Given the description of an element on the screen output the (x, y) to click on. 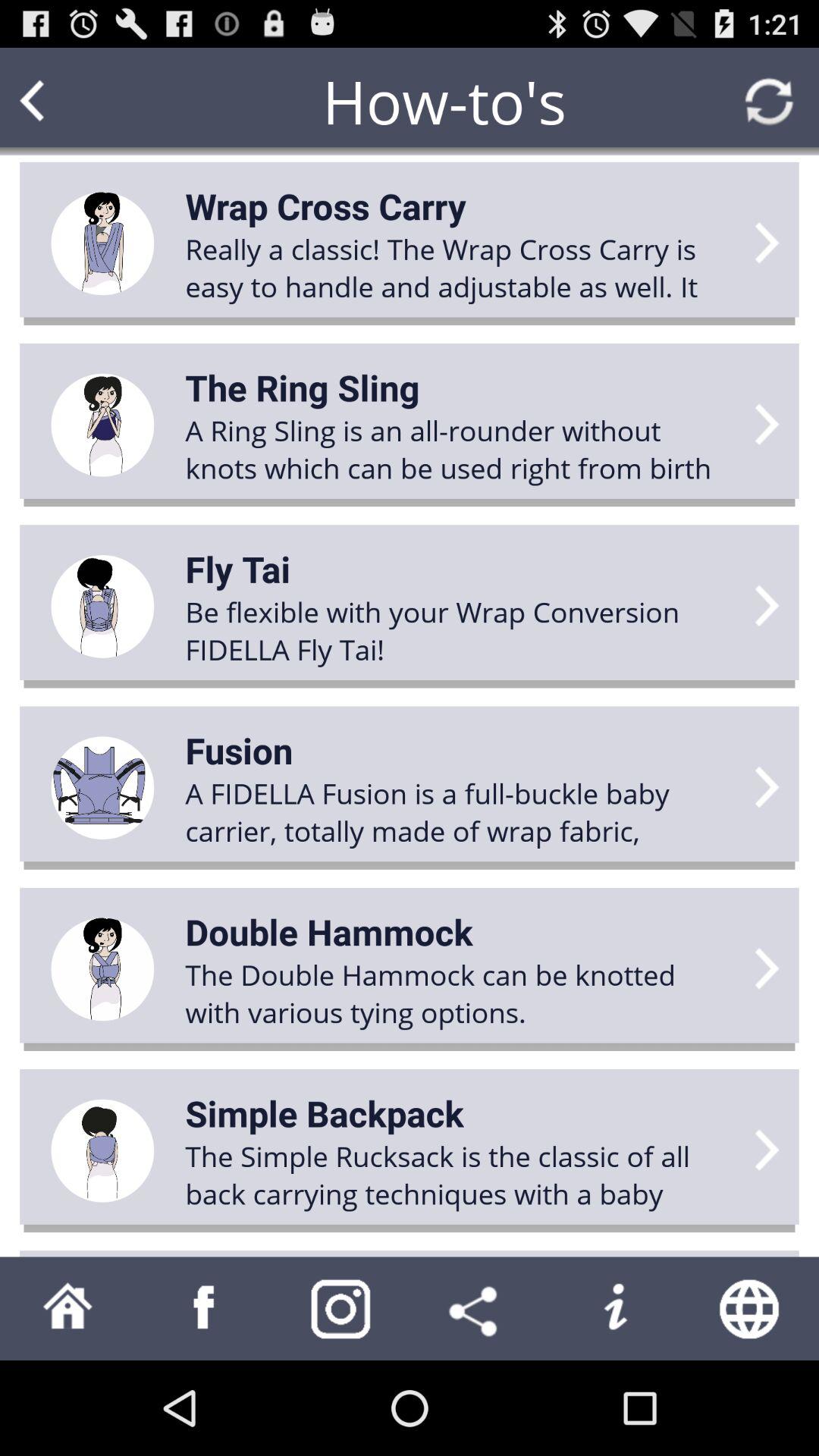
select the image whcih is before simple backpack on the page (102, 1150)
